Given the description of an element on the screen output the (x, y) to click on. 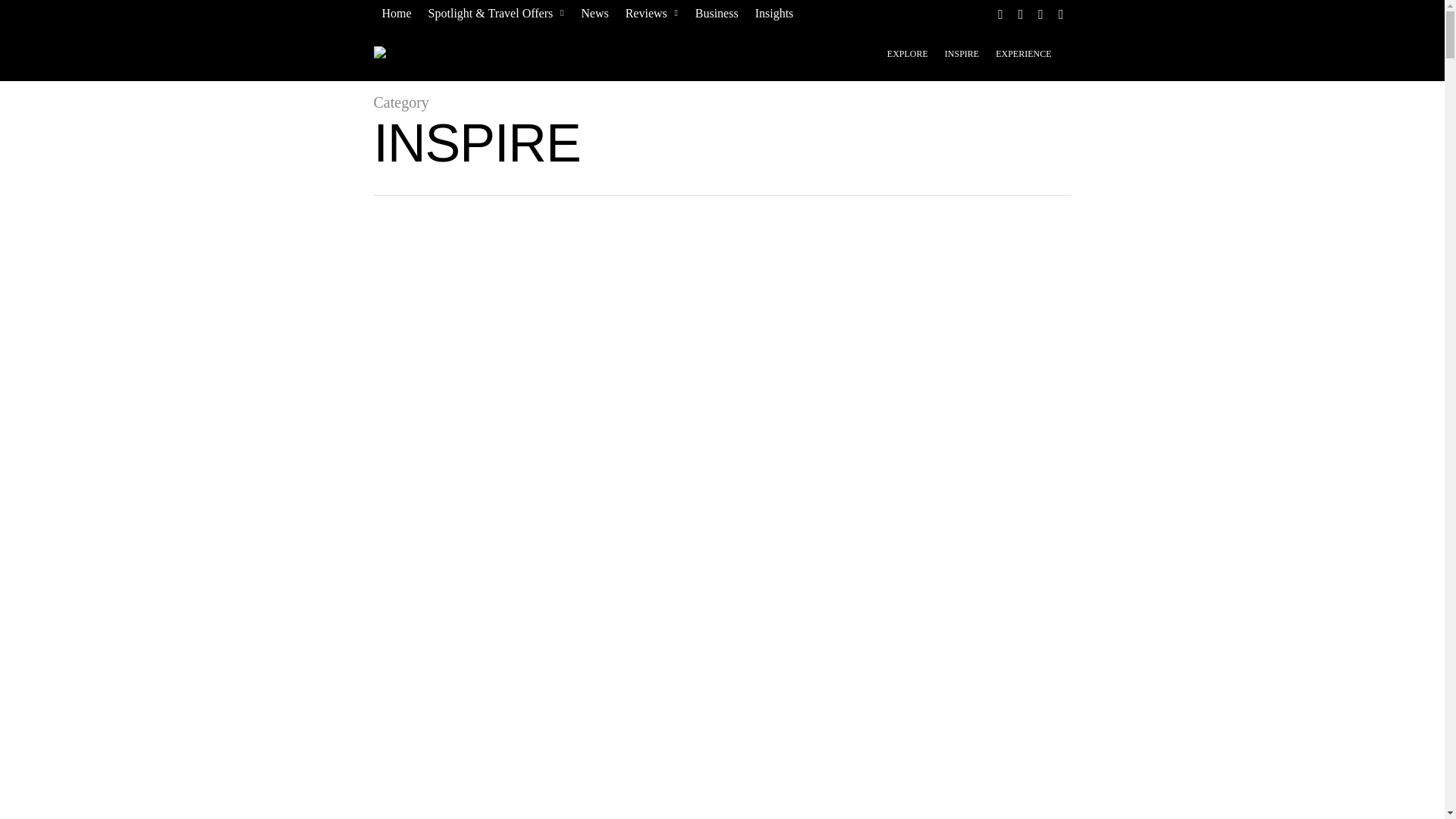
Insights (775, 13)
EXPLORE (907, 63)
EXPERIENCE (1023, 63)
Business (716, 13)
INSPIRE (962, 63)
Reviews (651, 13)
Home (396, 13)
News (594, 13)
